Given the description of an element on the screen output the (x, y) to click on. 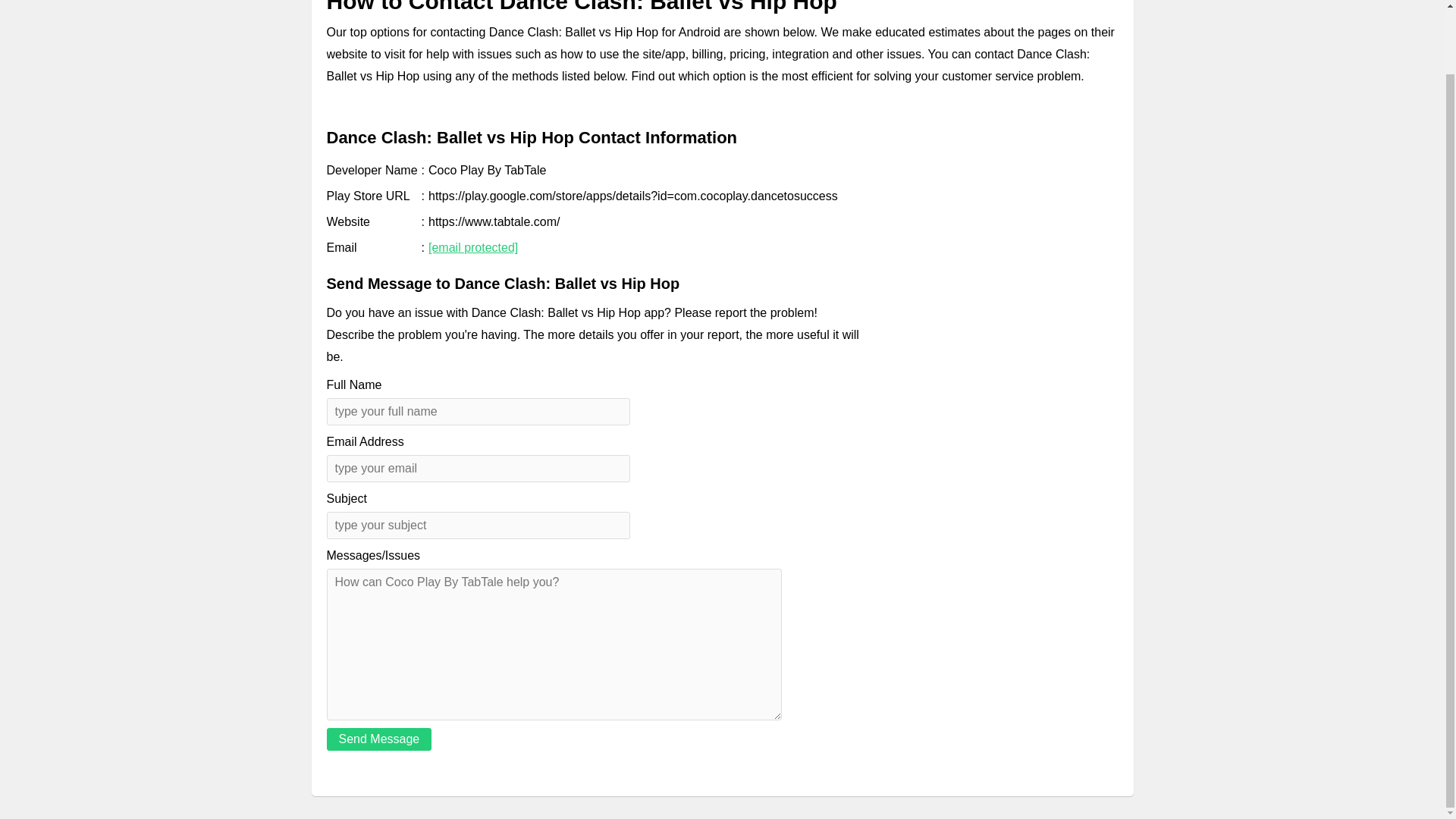
Send Message (378, 739)
